Given the description of an element on the screen output the (x, y) to click on. 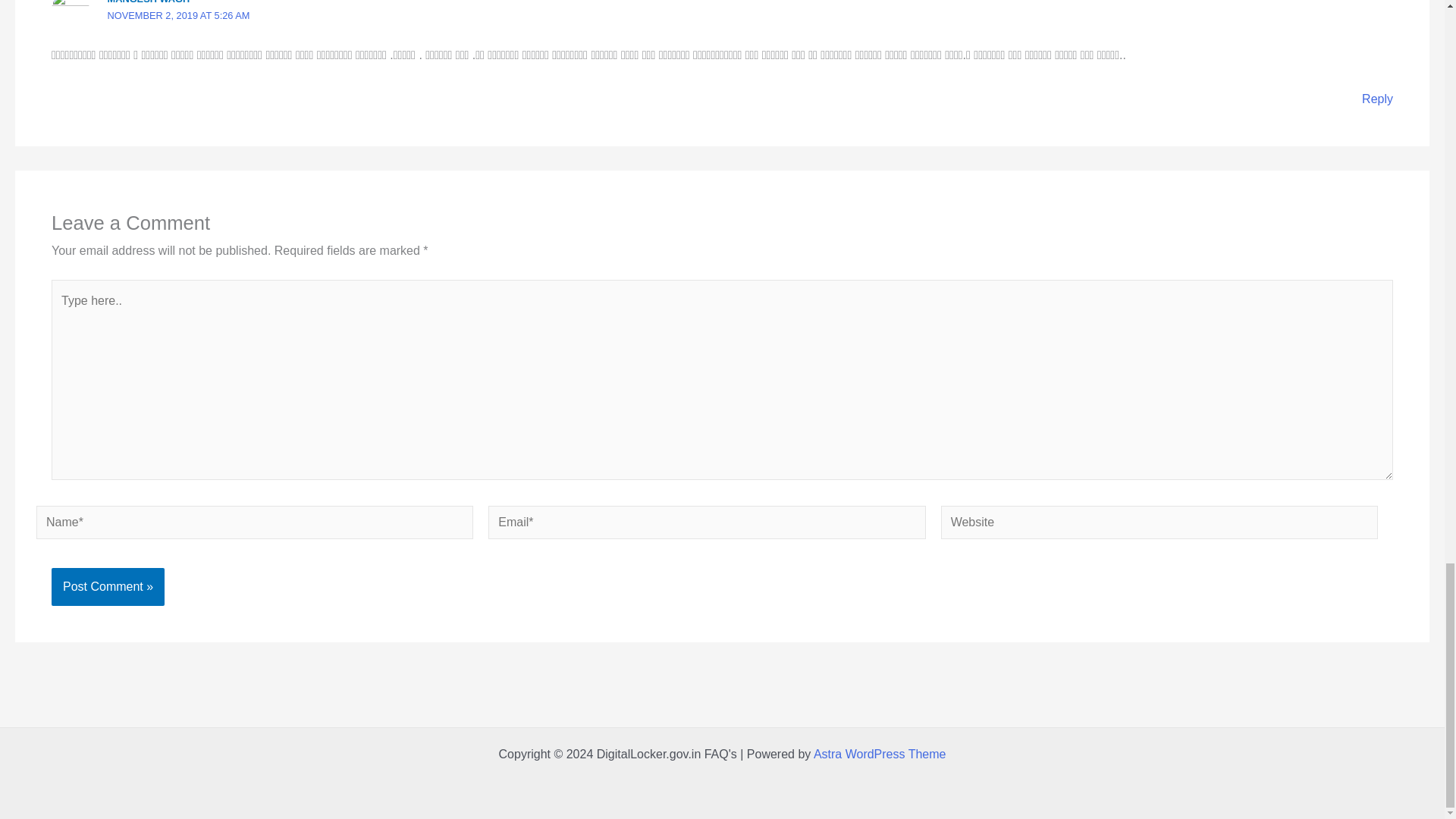
NOVEMBER 2, 2019 AT 5:26 AM (178, 15)
Astra WordPress Theme (879, 753)
Reply (1377, 98)
